Given the description of an element on the screen output the (x, y) to click on. 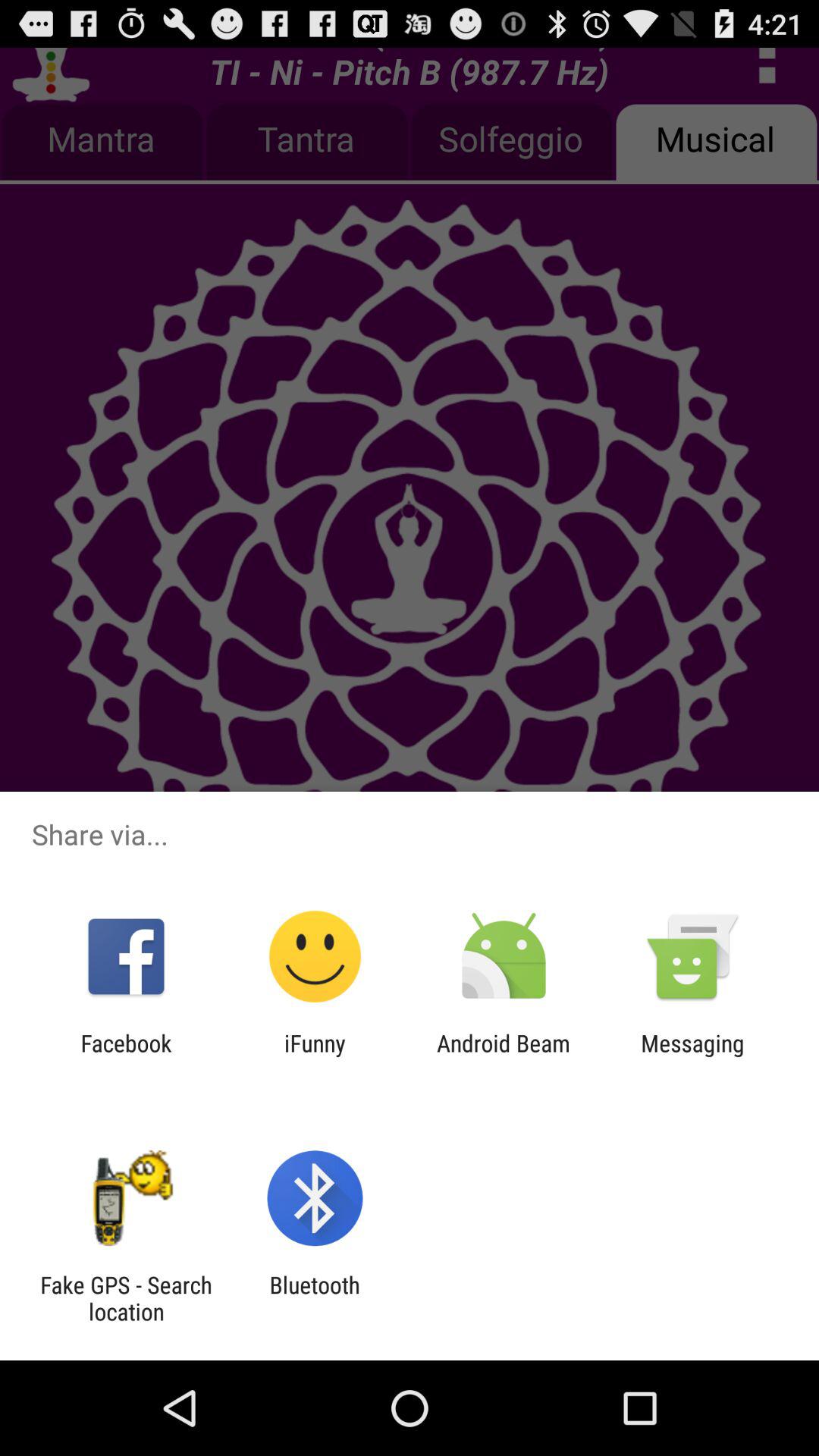
launch the messaging at the bottom right corner (692, 1056)
